Given the description of an element on the screen output the (x, y) to click on. 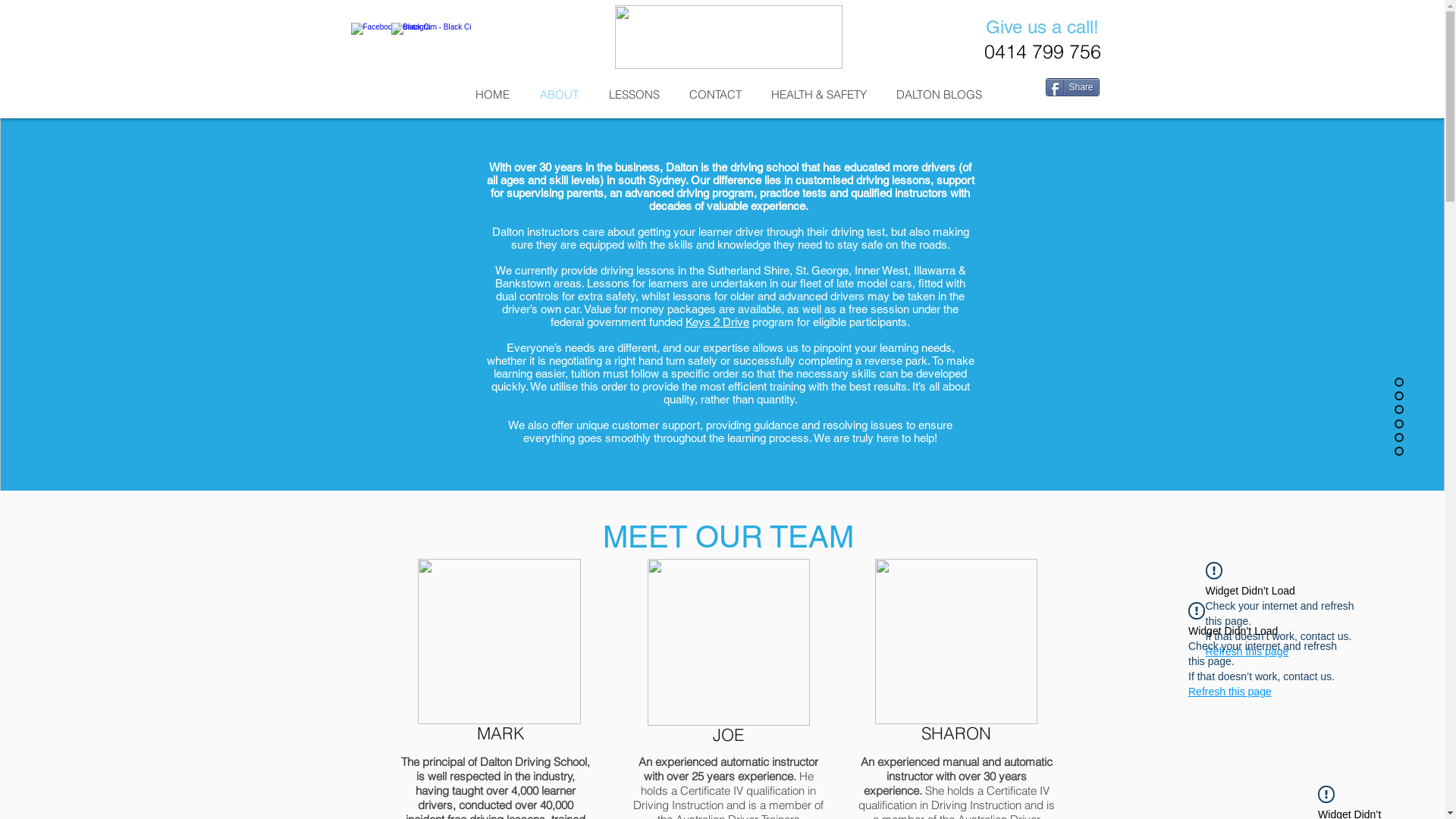
HEALTH & SAFETY Element type: text (818, 94)
0414 799 756 Element type: text (1042, 51)
ABOUT Element type: text (558, 94)
LESSONS Element type: text (633, 94)
DALTON BLOGS Element type: text (938, 94)
Refresh this page Element type: text (1247, 650)
Keys 2 Drive Element type: text (717, 321)
Refresh this page Element type: text (1229, 691)
HOME Element type: text (491, 94)
CONTACT Element type: text (715, 94)
Share Element type: text (1071, 87)
